Given the description of an element on the screen output the (x, y) to click on. 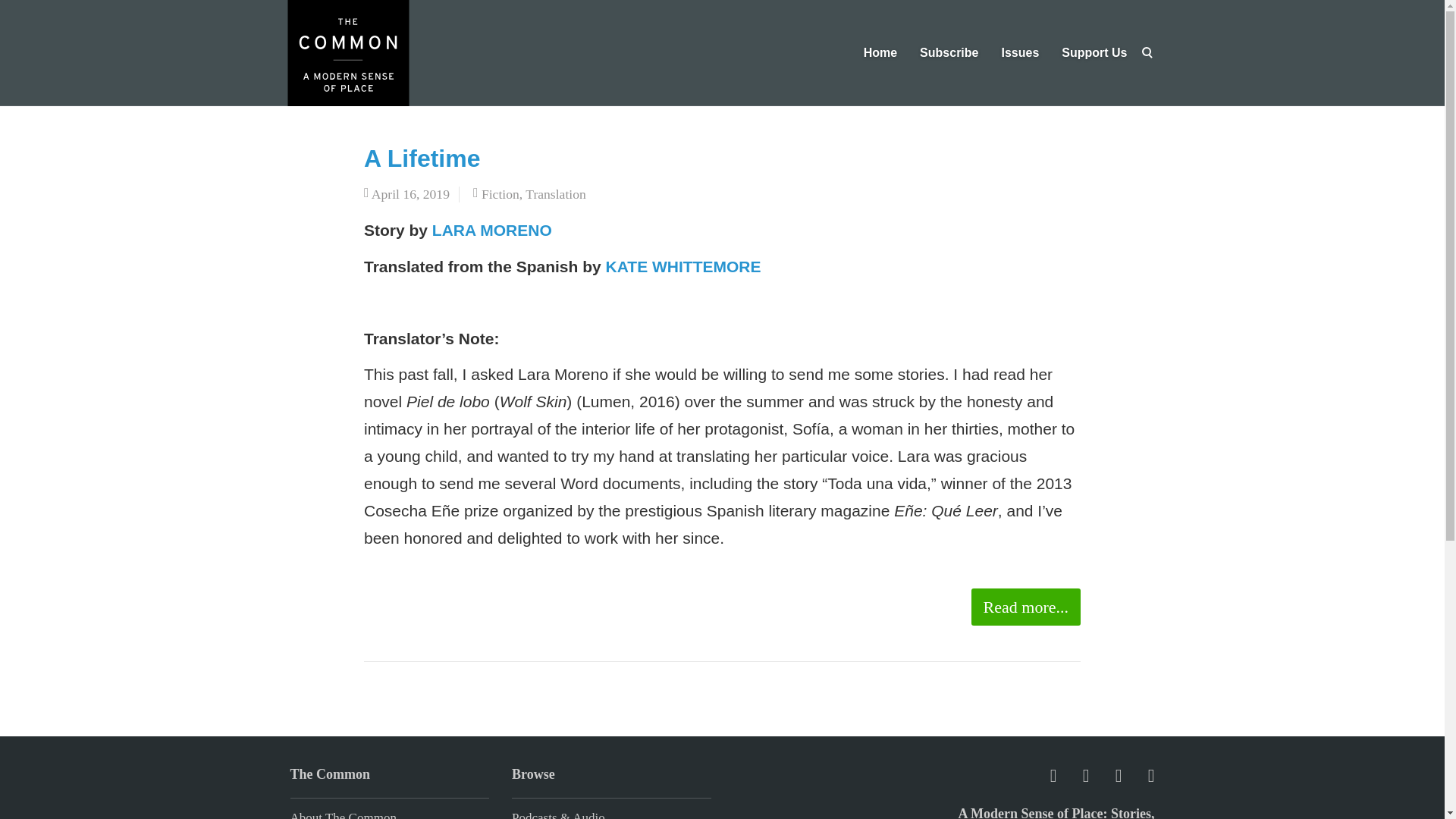
Read more... (1025, 607)
Permalink to A Lifetime (422, 157)
About The Common (342, 814)
Translation (555, 193)
Fiction (500, 193)
LARA MORENO (491, 230)
KATE WHITTEMORE (681, 266)
A Lifetime (422, 157)
